Given the description of an element on the screen output the (x, y) to click on. 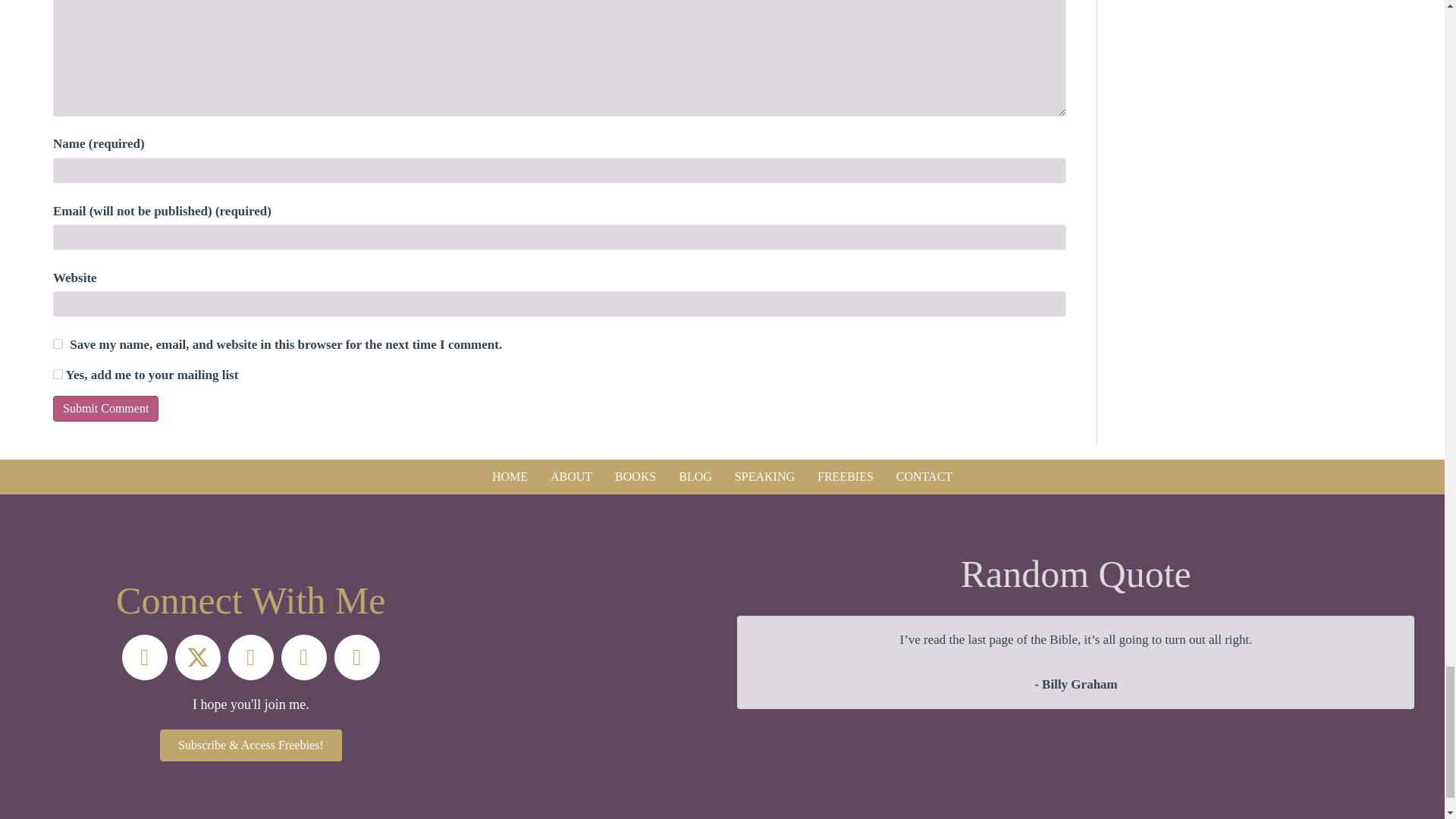
1 (57, 374)
Facebook (144, 657)
Submit Comment (105, 407)
yes (57, 343)
